Given the description of an element on the screen output the (x, y) to click on. 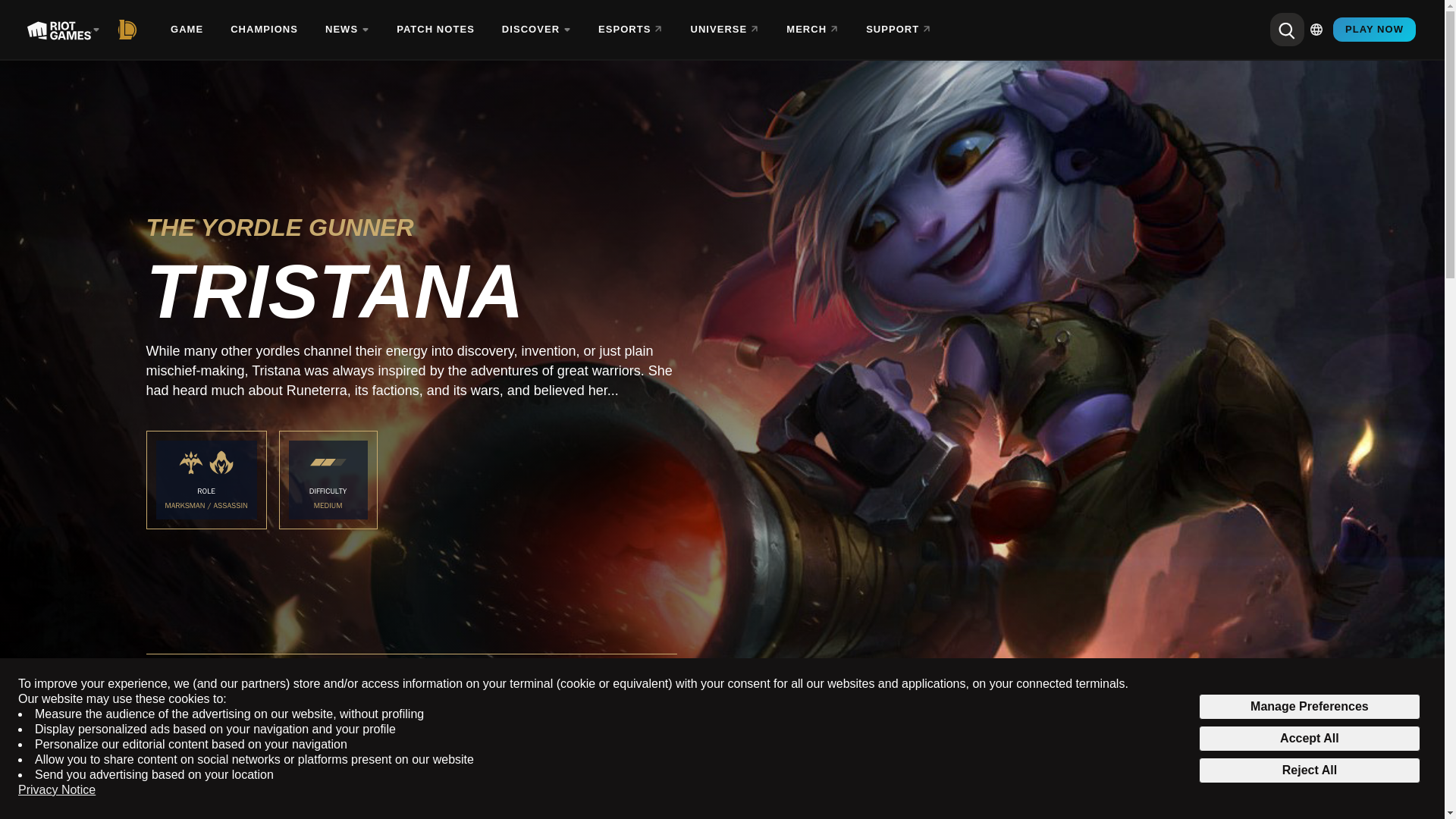
Privacy Notice (56, 789)
marksman-icon (191, 462)
difficulty-2-icon (328, 462)
NEWS (348, 29)
CHAMPIONS (265, 29)
ESPORTS (632, 29)
assassin-icon (220, 462)
PATCH NOTES (436, 29)
DISCOVER (537, 29)
Reject All (1309, 769)
GAME (188, 29)
MERCH (813, 29)
SUPPORT (899, 29)
Accept All (1309, 738)
Manage Preferences (1309, 706)
